Given the description of an element on the screen output the (x, y) to click on. 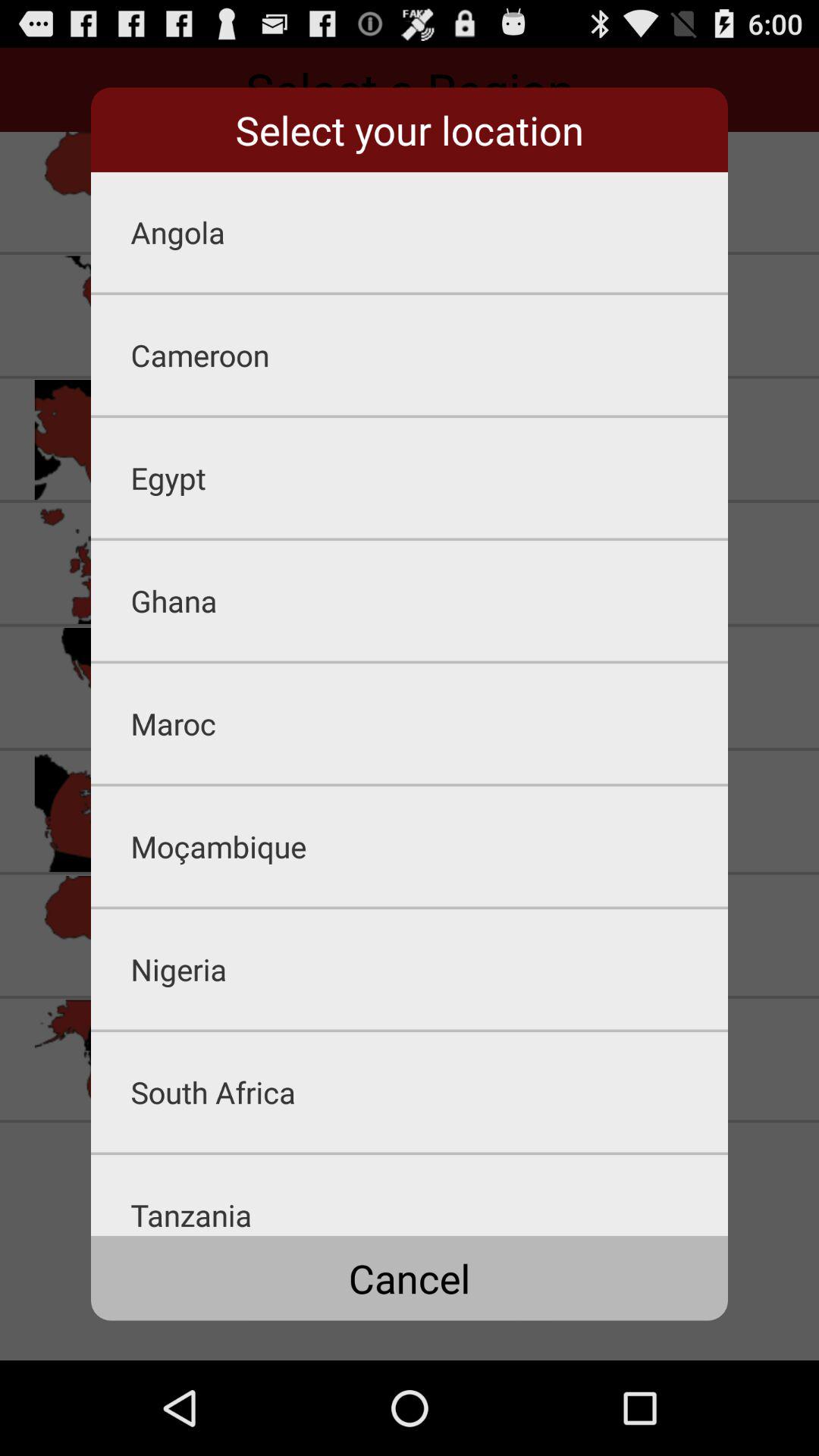
press the maroc app (429, 723)
